Given the description of an element on the screen output the (x, y) to click on. 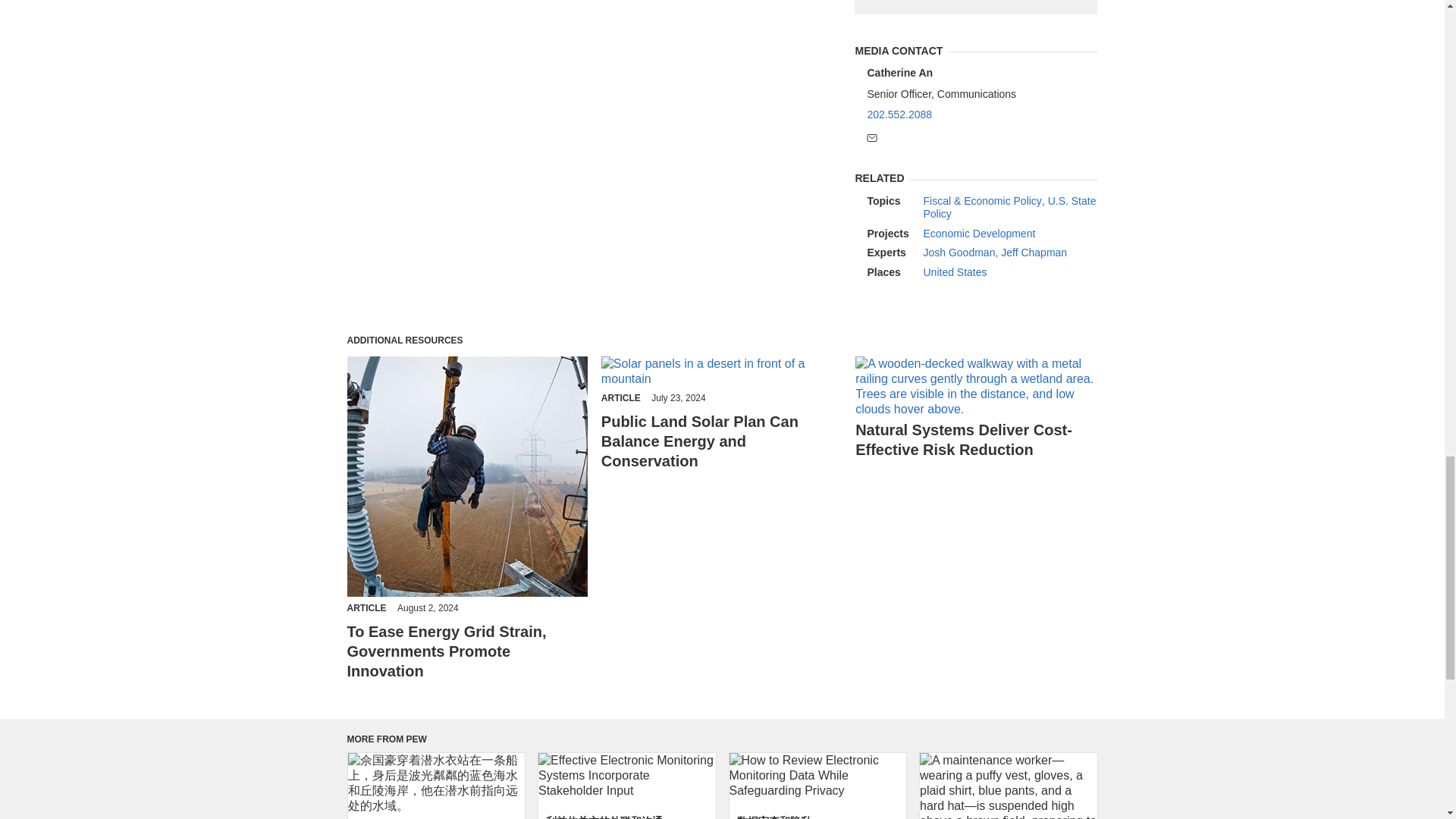
Solar panels in a desert in front of a mountain (722, 371)
